Given the description of an element on the screen output the (x, y) to click on. 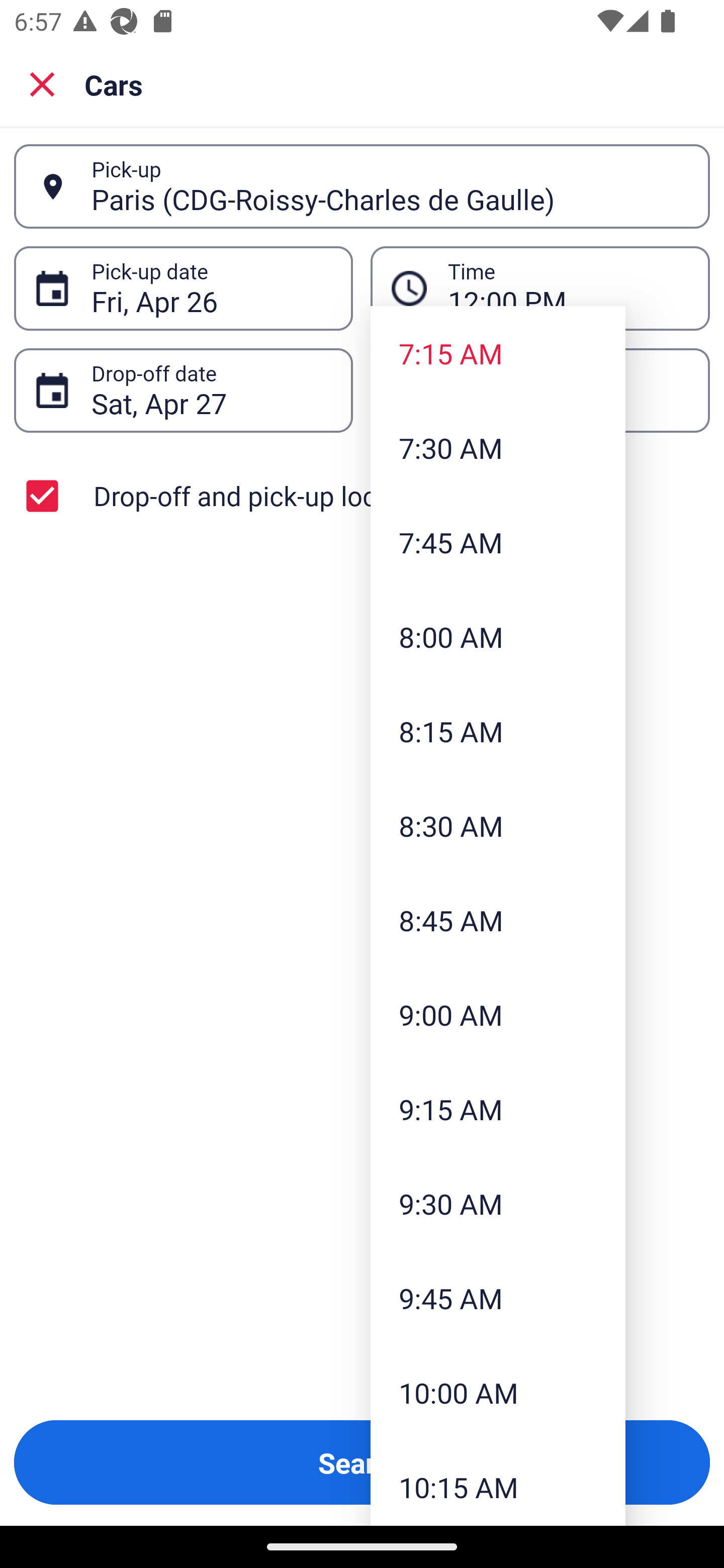
7:15 AM (497, 352)
7:30 AM (497, 447)
7:45 AM (497, 542)
8:00 AM (497, 636)
8:15 AM (497, 730)
8:30 AM (497, 825)
8:45 AM (497, 920)
9:00 AM (497, 1014)
9:15 AM (497, 1109)
9:30 AM (497, 1204)
9:45 AM (497, 1298)
10:00 AM (497, 1392)
10:15 AM (497, 1482)
